Given the description of an element on the screen output the (x, y) to click on. 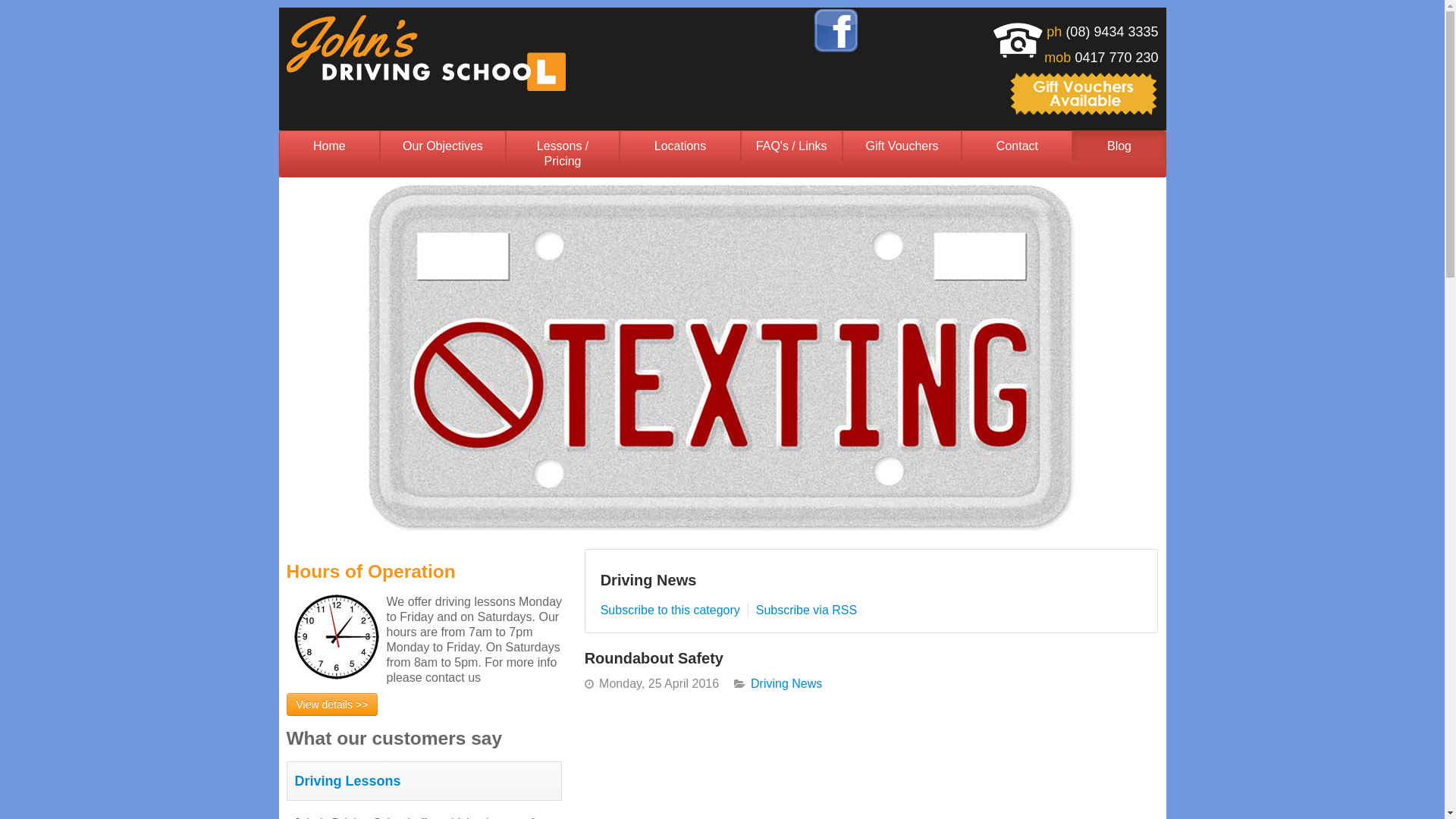
FAQ's / Links Element type: text (791, 146)
Driving Lesson Hours Element type: hover (336, 636)
Our Objectives Element type: text (442, 146)
Locations Element type: text (679, 146)
Roundabout Safety Element type: text (653, 657)
Lessons / Pricing Element type: text (562, 153)
0417 770 230 Element type: text (1115, 57)
Blog Element type: text (1118, 146)
View details >> Element type: text (332, 704)
(08) 9434 3335 Element type: text (1111, 31)
Subscribe via RSS Element type: text (806, 609)
Gift Vouchers Element type: text (902, 146)
Contact Element type: text (1016, 146)
Johns Driving School Facebook Element type: hover (836, 30)
Like Us, Johns Driving School Facebook Element type: hover (836, 28)
Subscribe to this category Element type: text (670, 609)
Driving Lesson Gift Vouchers Element type: hover (1083, 92)
Home Element type: text (329, 146)
Johns Driving School Home Element type: hover (425, 51)
Driving News Element type: text (786, 683)
Driving News Element type: text (648, 579)
